Given the description of an element on the screen output the (x, y) to click on. 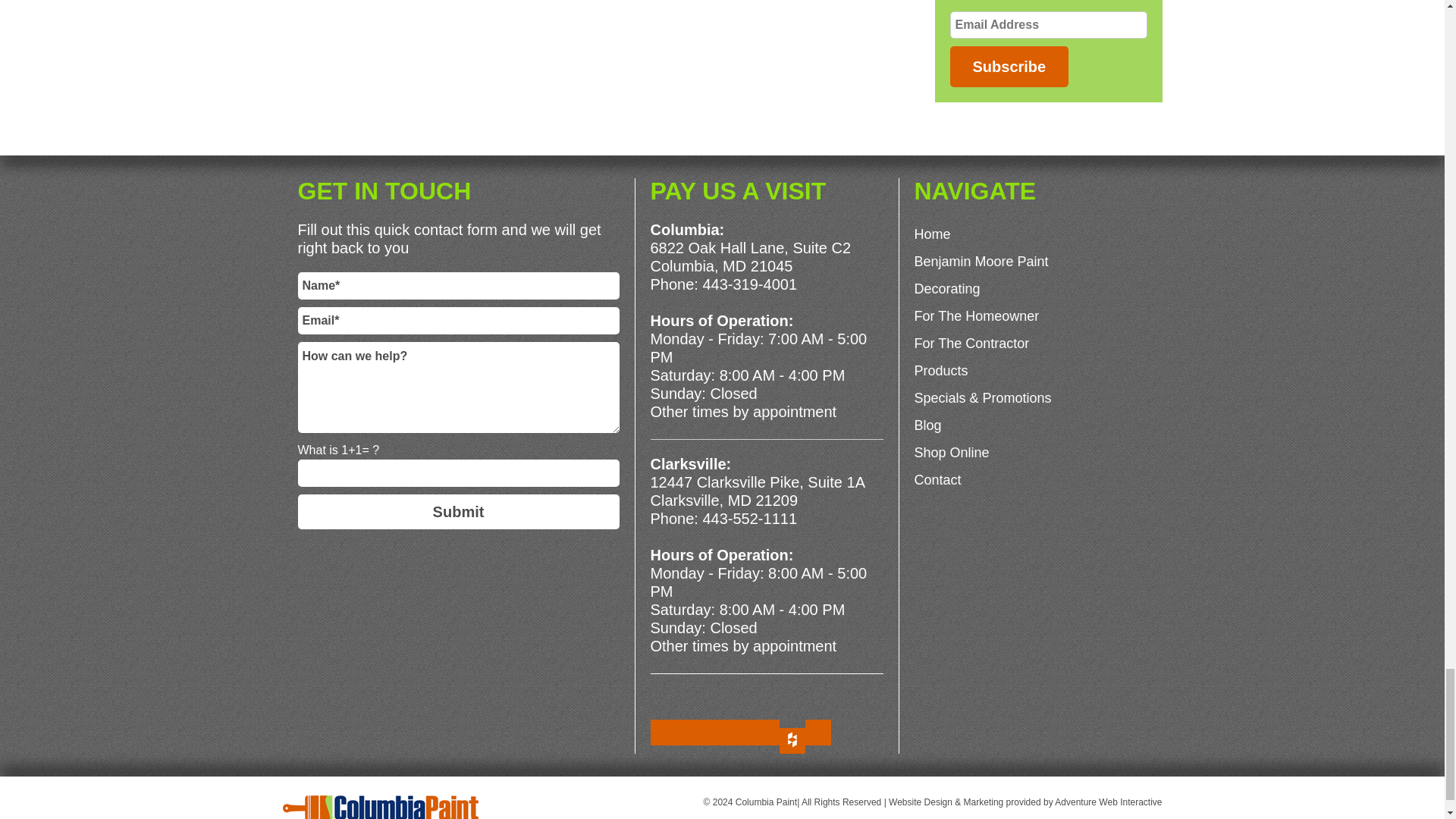
Submit (457, 511)
